Given the description of an element on the screen output the (x, y) to click on. 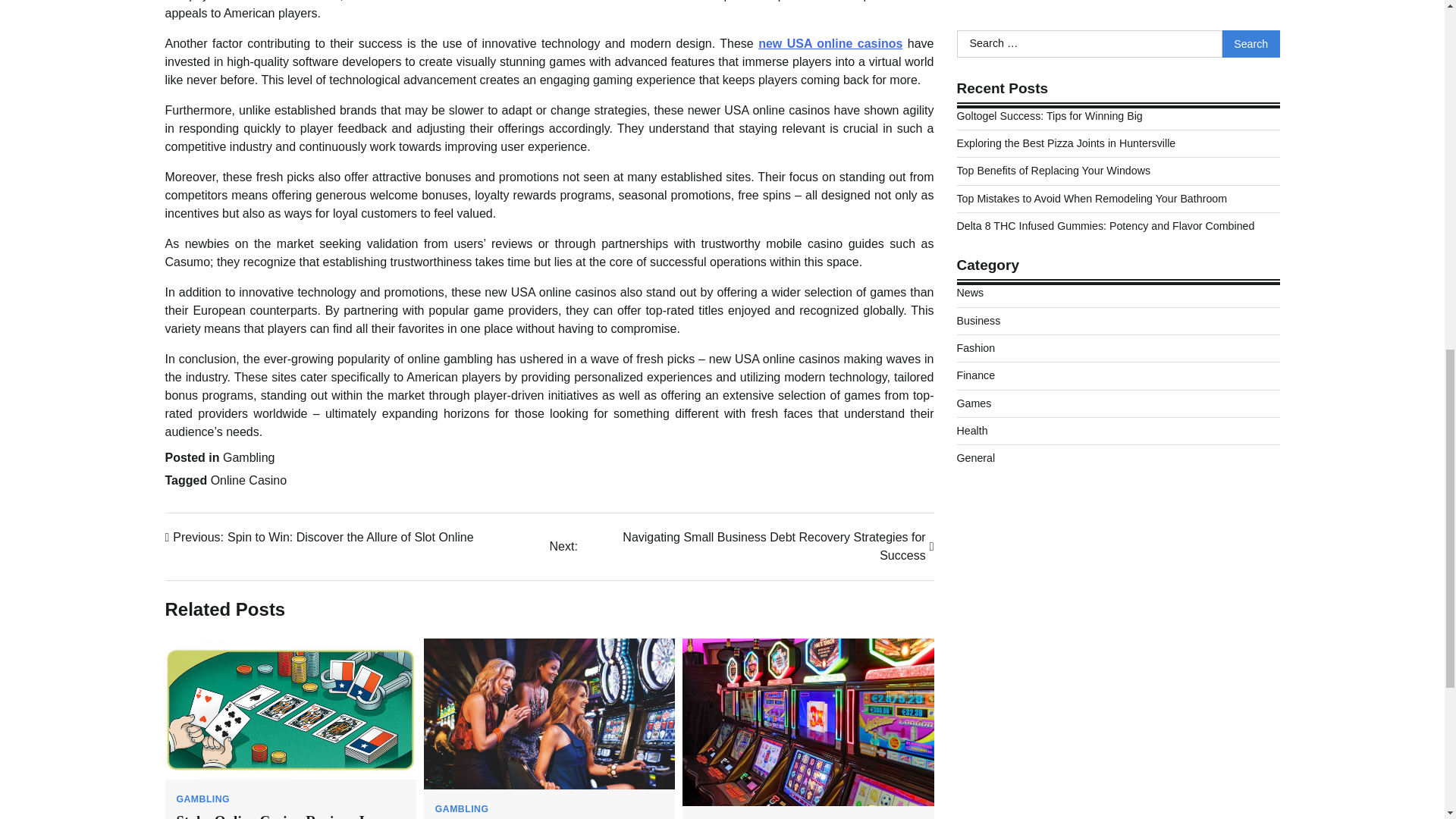
GAMBLING (462, 809)
Online Casino (319, 537)
Gambling (248, 480)
Stake Online Casino Review: Is Stake Real and Worth It? (248, 457)
GAMBLING (272, 816)
new USA online casinos (203, 798)
